Given the description of an element on the screen output the (x, y) to click on. 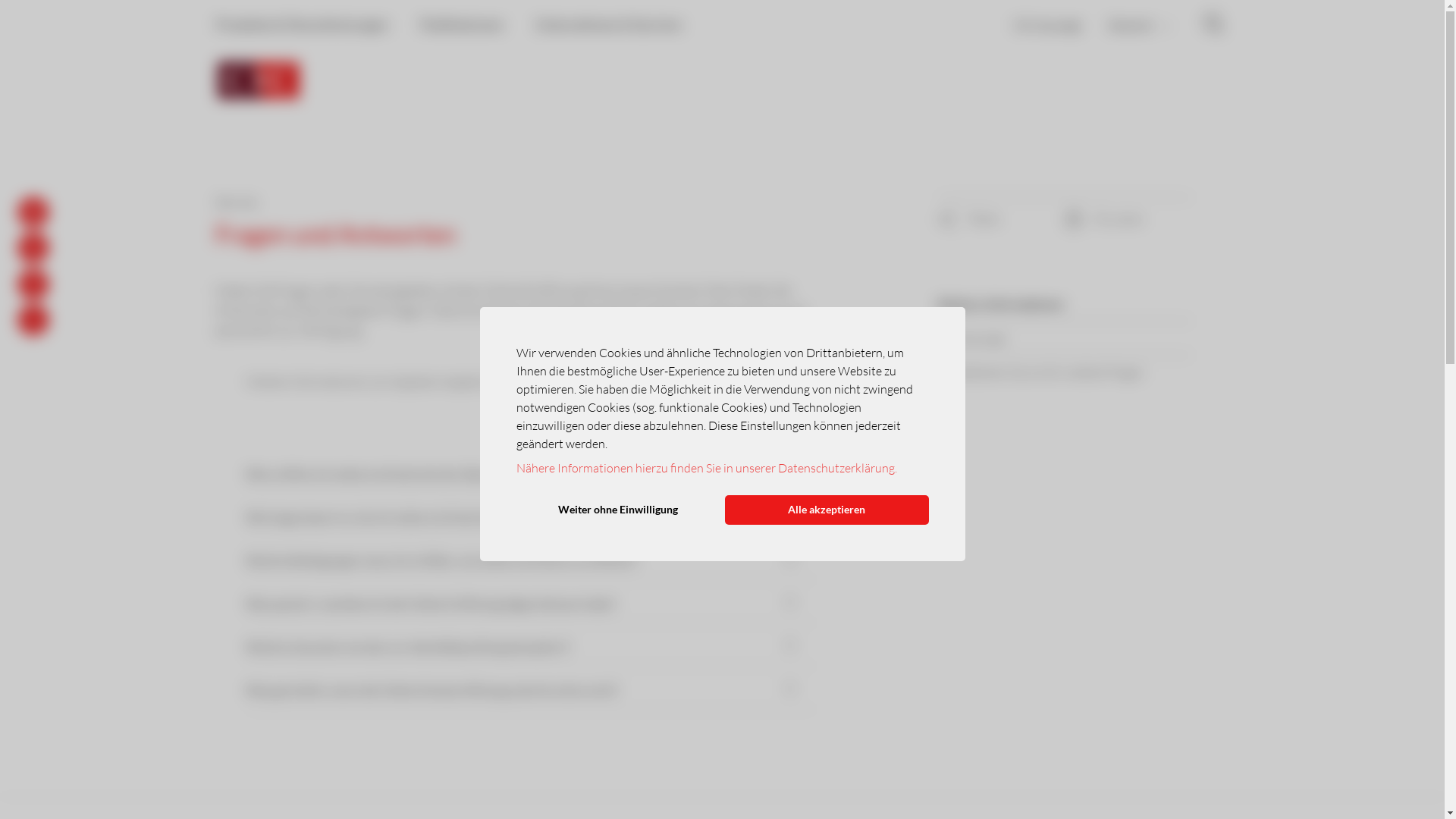
Alle auf-/zuklappen Element type: text (530, 441)
CIC eLounge Element type: text (1047, 24)
www.cic-on.ch Element type: text (680, 380)
CIC eLounge Element type: text (1064, 337)
